Given the description of an element on the screen output the (x, y) to click on. 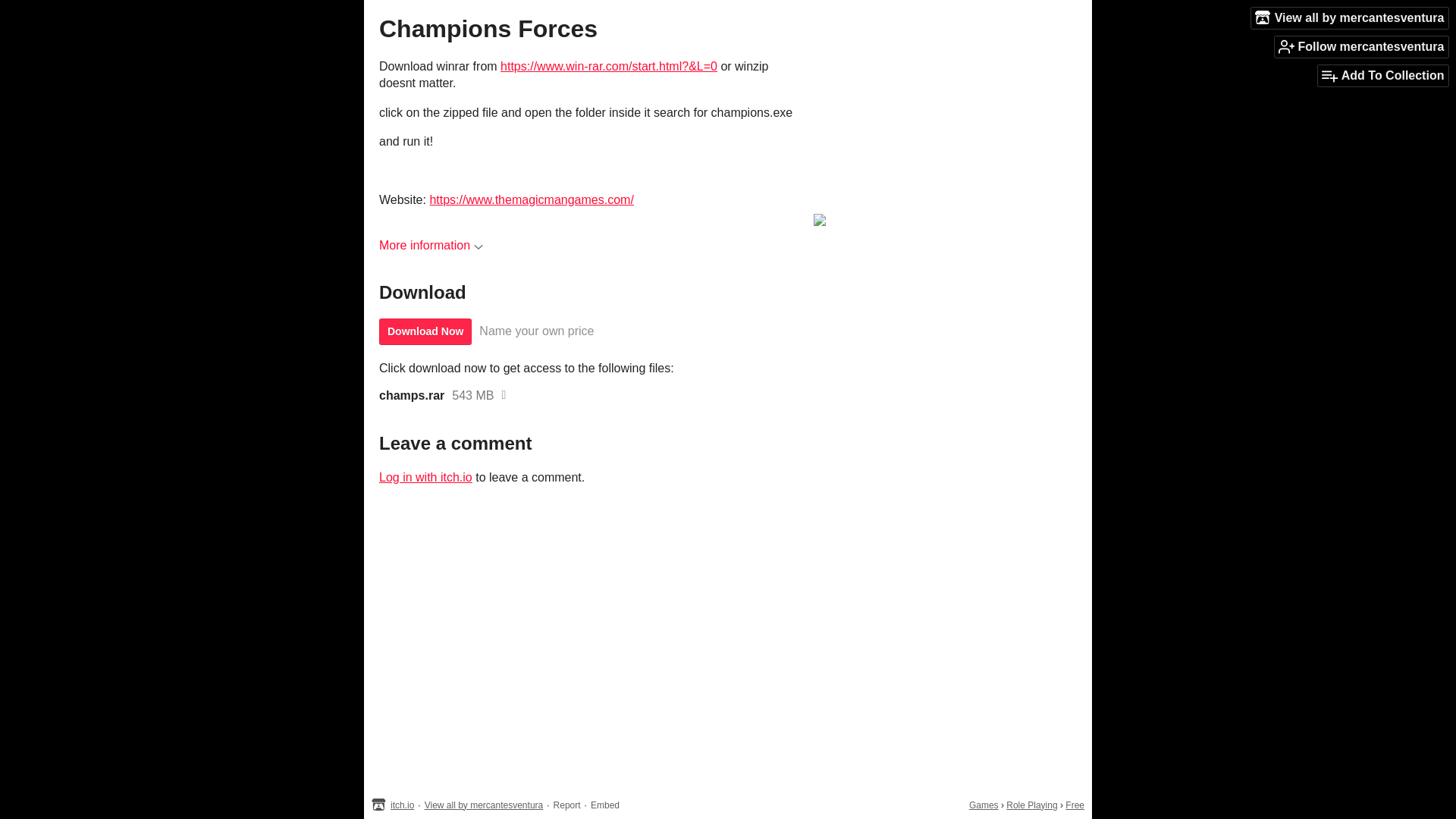
champs.rar (411, 395)
Role Playing (1031, 804)
More information (430, 245)
Log in with itch.io (424, 477)
Download Now (424, 331)
Embed (605, 804)
itch.io (401, 804)
View all by mercantesventura (484, 804)
Follow mercantesventura (1361, 46)
Report (566, 804)
Games (983, 804)
Free (1074, 804)
View all by mercantesventura (1349, 17)
Add To Collection (1382, 75)
